Given the description of an element on the screen output the (x, y) to click on. 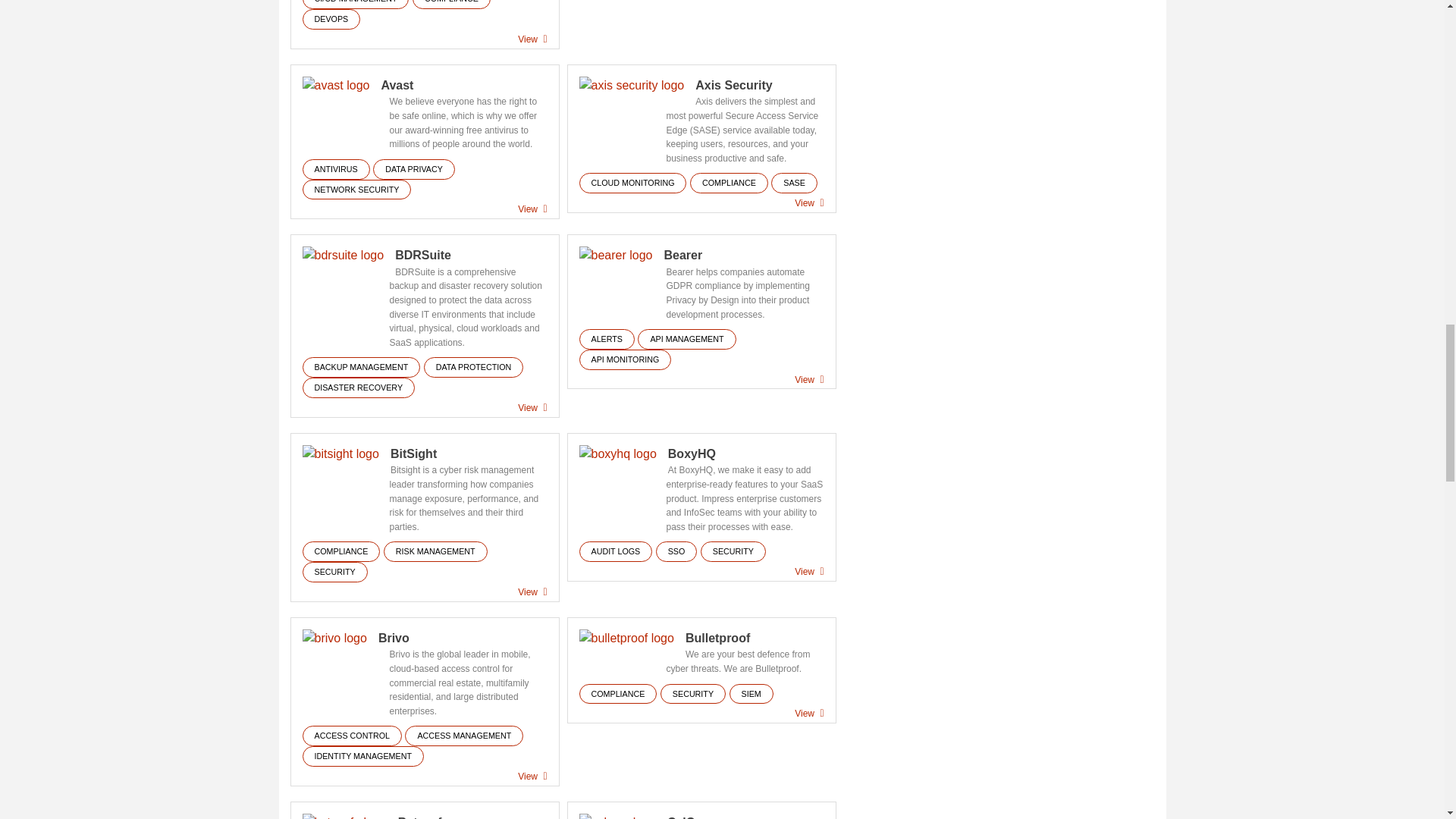
bdrsuite logo (342, 255)
axis security logo (631, 85)
avast logo (335, 85)
bitsight logo (339, 454)
bearer logo (615, 255)
